Given the description of an element on the screen output the (x, y) to click on. 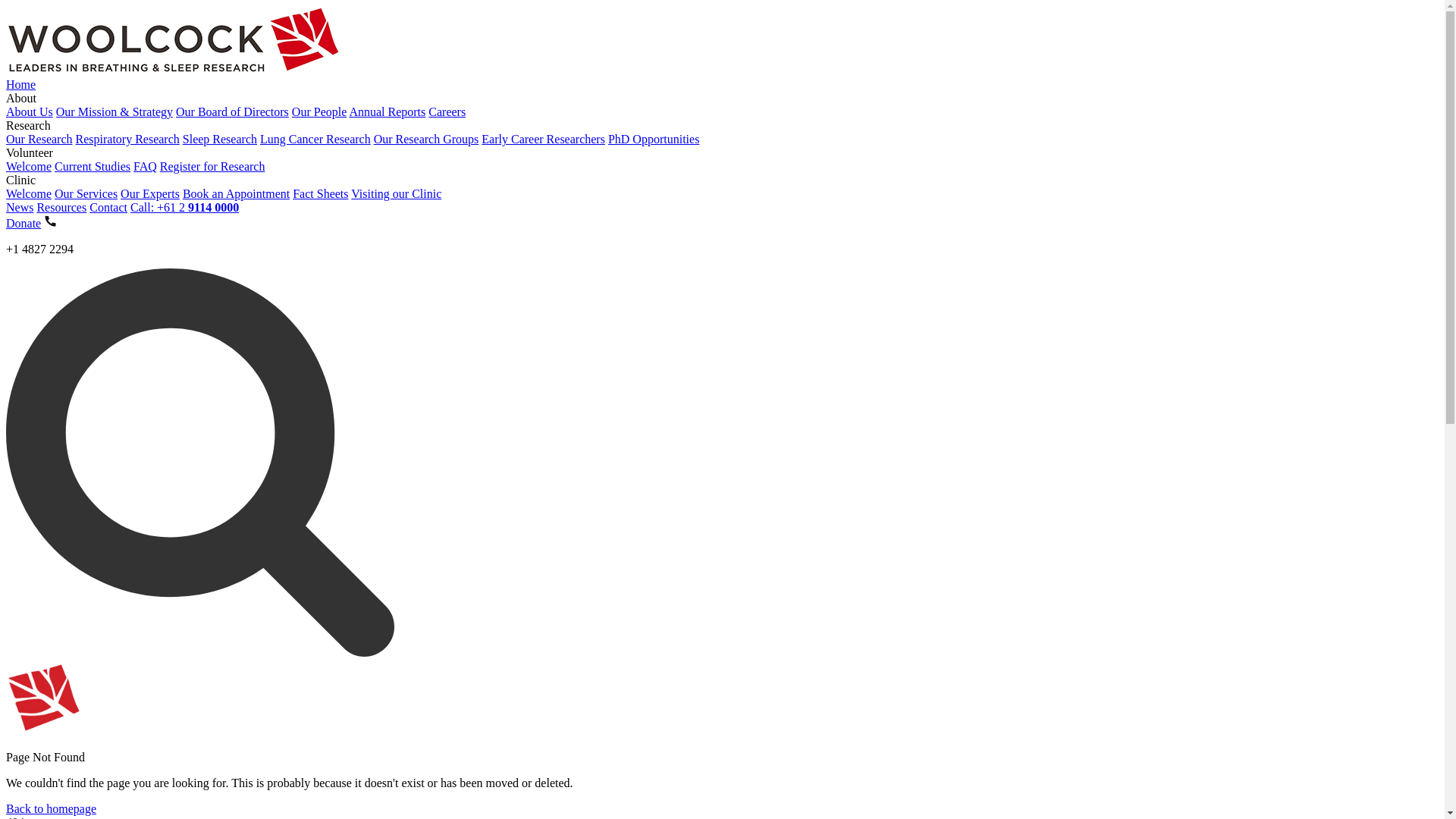
Back to homepage Element type: text (51, 808)
Our Mission & Strategy Element type: text (114, 111)
FAQ Element type: text (144, 166)
Our Board of Directors Element type: text (231, 111)
PhD Opportunities Element type: text (653, 138)
Our Services Element type: text (85, 193)
Home Element type: text (20, 84)
News Element type: text (19, 206)
Book an Appointment Element type: text (235, 193)
Visiting our Clinic Element type: text (396, 193)
Respiratory Research Element type: text (127, 138)
Fact Sheets Element type: text (320, 193)
Register for Research Element type: text (212, 166)
Welcome Element type: text (28, 166)
Call: +61 2 9114 0000 Element type: text (184, 206)
Resources Element type: text (61, 206)
Welcome Element type: text (28, 193)
Our People Element type: text (318, 111)
Our Research Element type: text (39, 138)
Current Studies Element type: text (92, 166)
Our Research Groups Element type: text (426, 138)
About Us Element type: text (29, 111)
Lung Cancer Research Element type: text (315, 138)
Early Career Researchers Element type: text (543, 138)
Donate Element type: text (23, 222)
Contact Element type: text (108, 206)
Annual Reports Element type: text (386, 111)
Sleep Research Element type: text (219, 138)
Careers Element type: text (446, 111)
Our Experts Element type: text (149, 193)
